Given the description of an element on the screen output the (x, y) to click on. 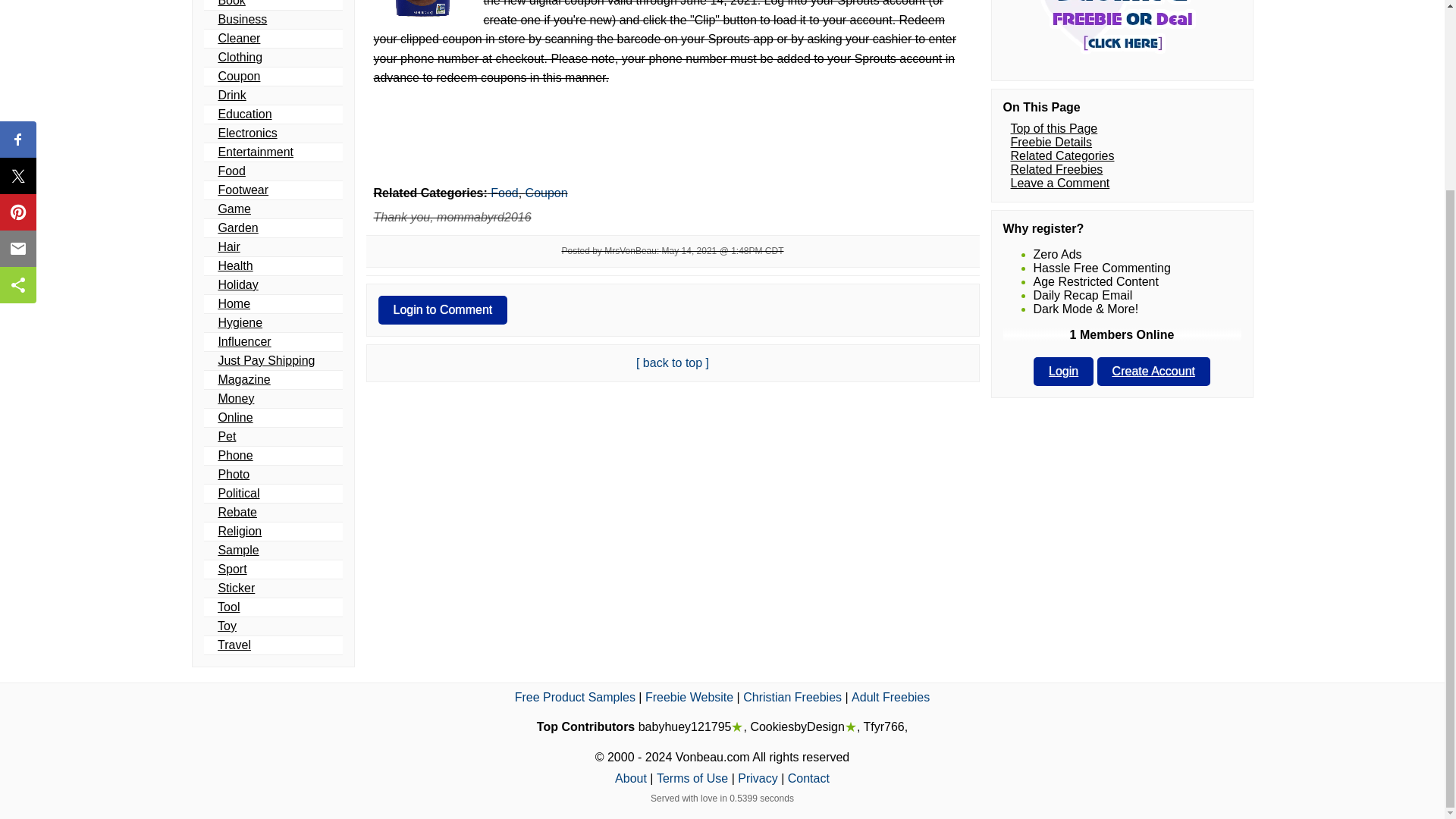
Influencer (243, 341)
Entertainment (255, 151)
Business (241, 19)
Drink (231, 94)
Footwear (241, 189)
Just Pay Shipping (265, 359)
Political (237, 492)
Clothing (239, 56)
Money (234, 398)
Electronics (246, 132)
Food (230, 170)
Cleaner (238, 38)
Coupon (238, 75)
Game (233, 208)
Book (230, 3)
